Given the description of an element on the screen output the (x, y) to click on. 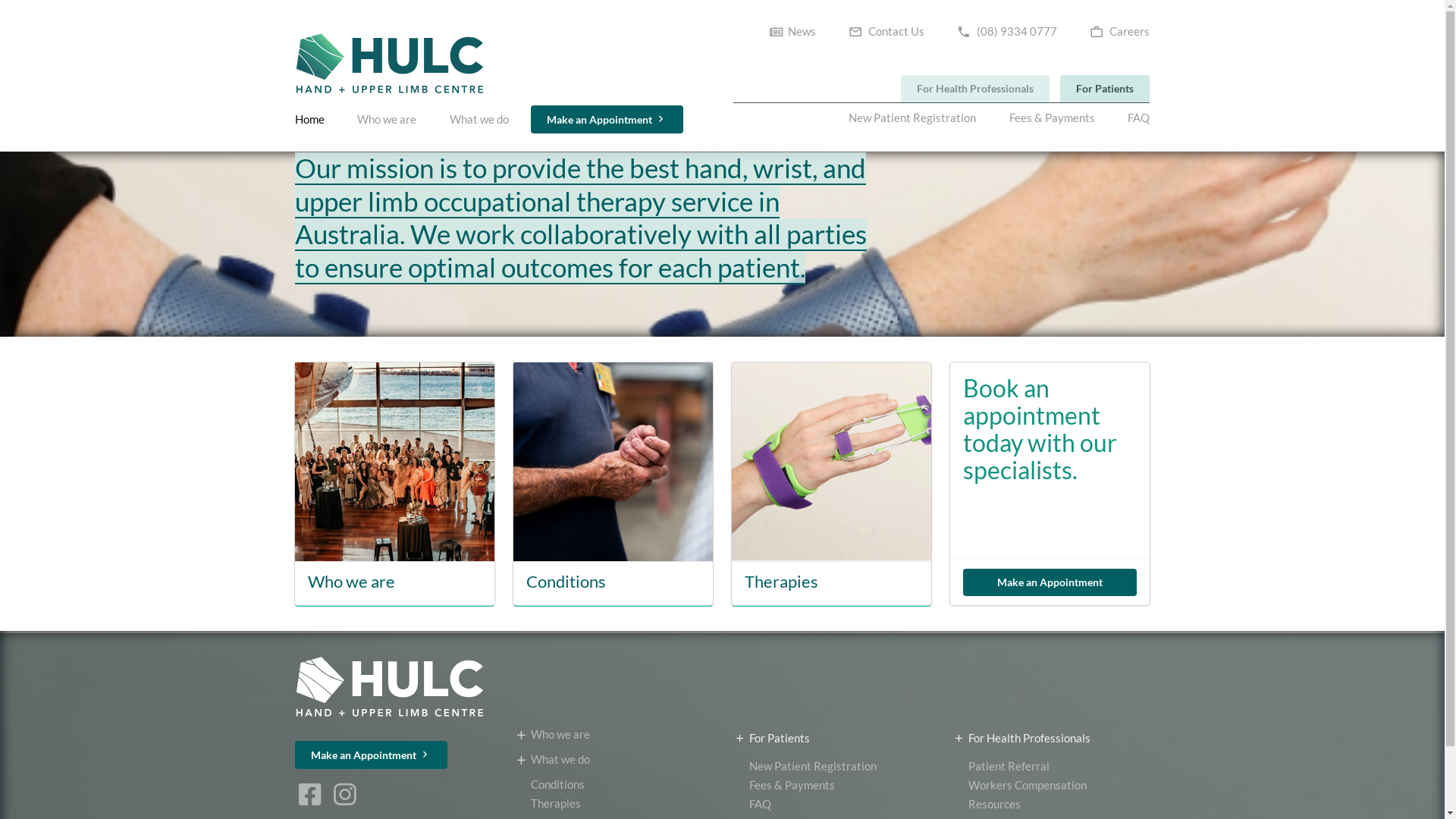
Who we are Element type: text (351, 581)
Home Element type: text (314, 119)
FAQ Element type: text (1133, 118)
Fees & Payments Element type: text (831, 785)
Contact Us Element type: text (886, 31)
Conditions Element type: text (613, 784)
What we do Element type: text (479, 119)
Therapies Element type: text (613, 801)
FAQ Element type: text (831, 803)
Make an Appointment Element type: text (370, 754)
Who we are Element type: text (613, 736)
(08) 9334 0777 Element type: text (1006, 31)
Who we are Element type: text (386, 119)
Fees & Payments Element type: text (1051, 118)
Make an Appointment Element type: text (606, 119)
Careers Element type: text (1114, 31)
Conditions Element type: text (565, 581)
New Patient Registration Element type: text (917, 118)
Therapies Element type: text (831, 582)
Resources Element type: text (1050, 803)
News Element type: text (797, 31)
New Patient Registration Element type: text (831, 767)
Make an Appointment Element type: text (1049, 582)
What we do Element type: text (613, 759)
Workers Compensation Element type: text (1050, 785)
Patient Referral Element type: text (1050, 767)
